Given the description of an element on the screen output the (x, y) to click on. 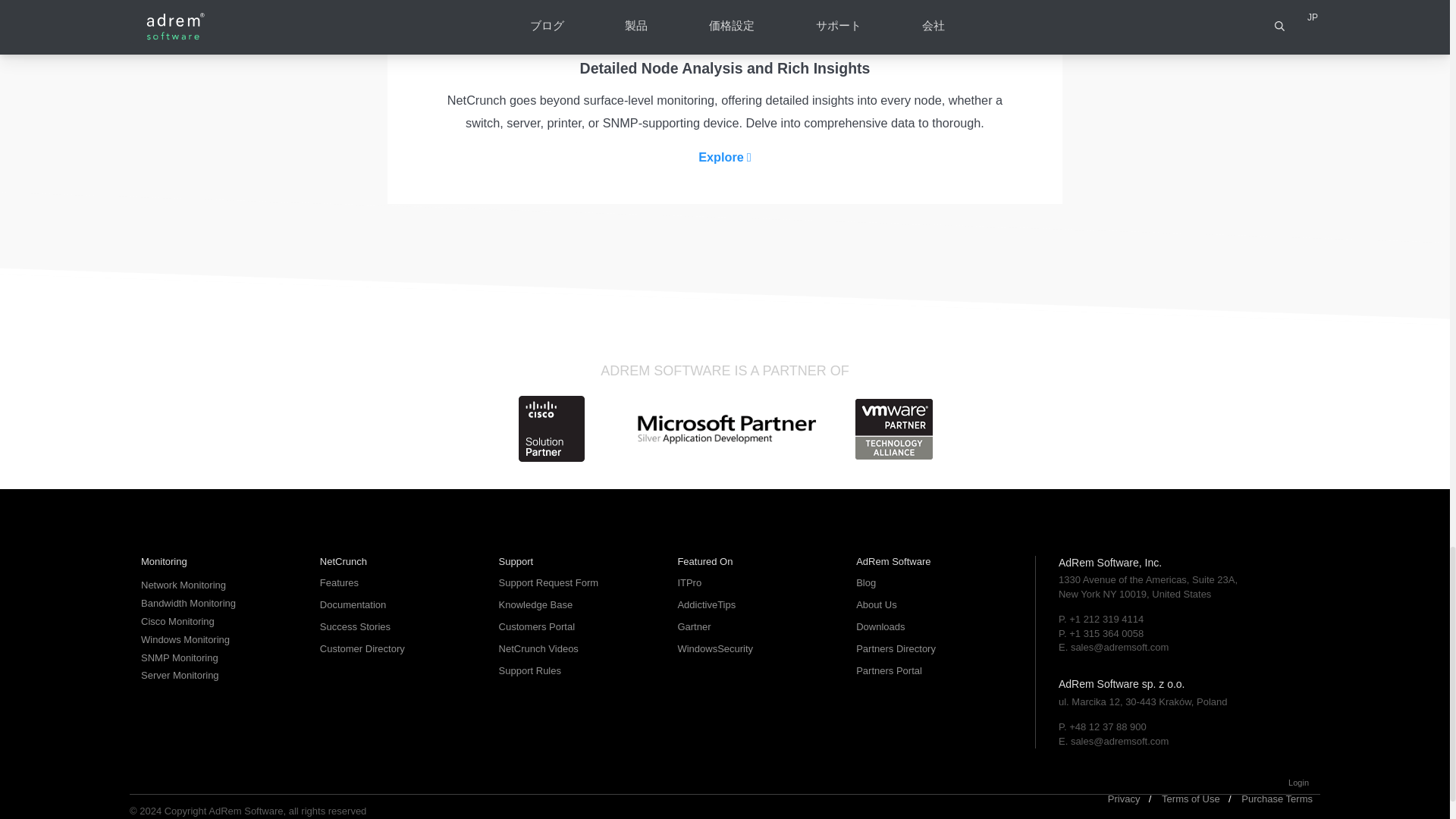
Customer Directory (398, 649)
SNMP Monitoring (219, 658)
Knowledge Base (577, 604)
Click to read VMWare support statement (894, 428)
Success Stories (398, 626)
Server Monitoring (219, 675)
Gartner (754, 626)
Cisco Monitoring (219, 621)
Follow on Twitter (187, 764)
Check Linked-In profile (221, 764)
Support Request Form (577, 582)
Visit us on Facebook (152, 764)
Explore (724, 157)
AddictiveTips (754, 604)
ITPro (754, 582)
